Given the description of an element on the screen output the (x, y) to click on. 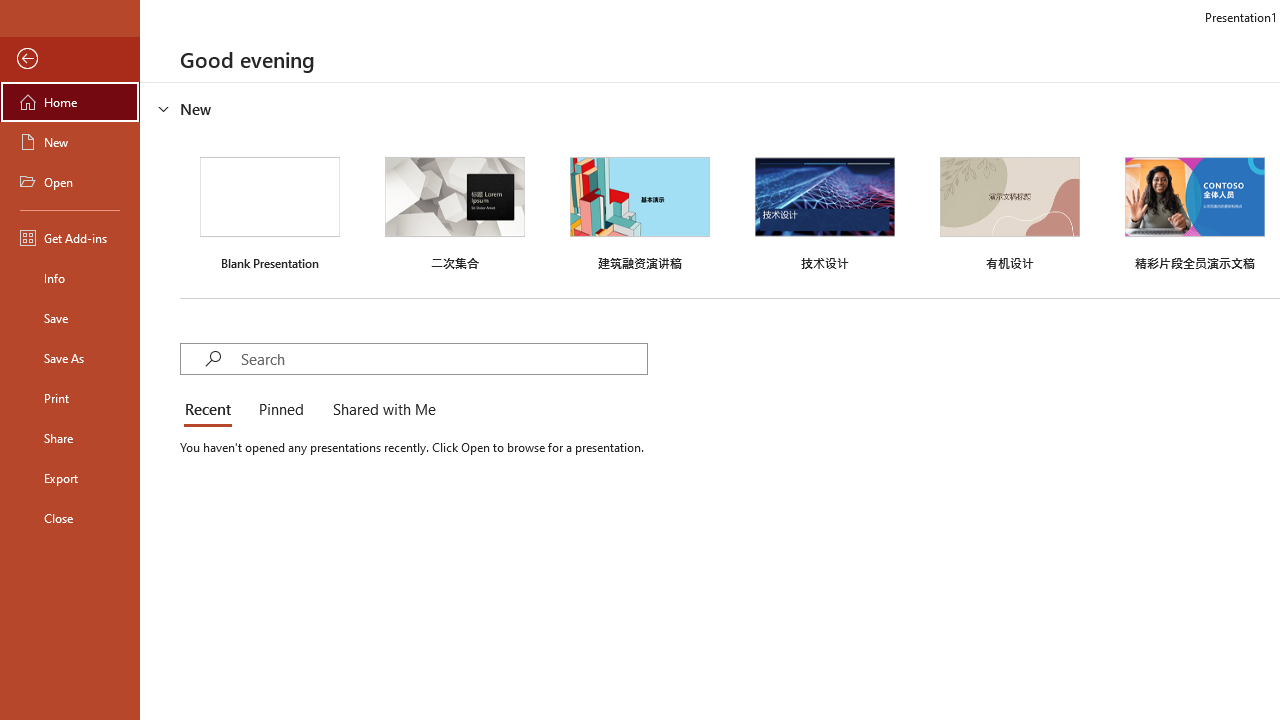
Share (69, 437)
Info (69, 277)
Pinned (280, 410)
Shared with Me (379, 410)
Recent (212, 410)
Get Add-ins (69, 237)
